Given the description of an element on the screen output the (x, y) to click on. 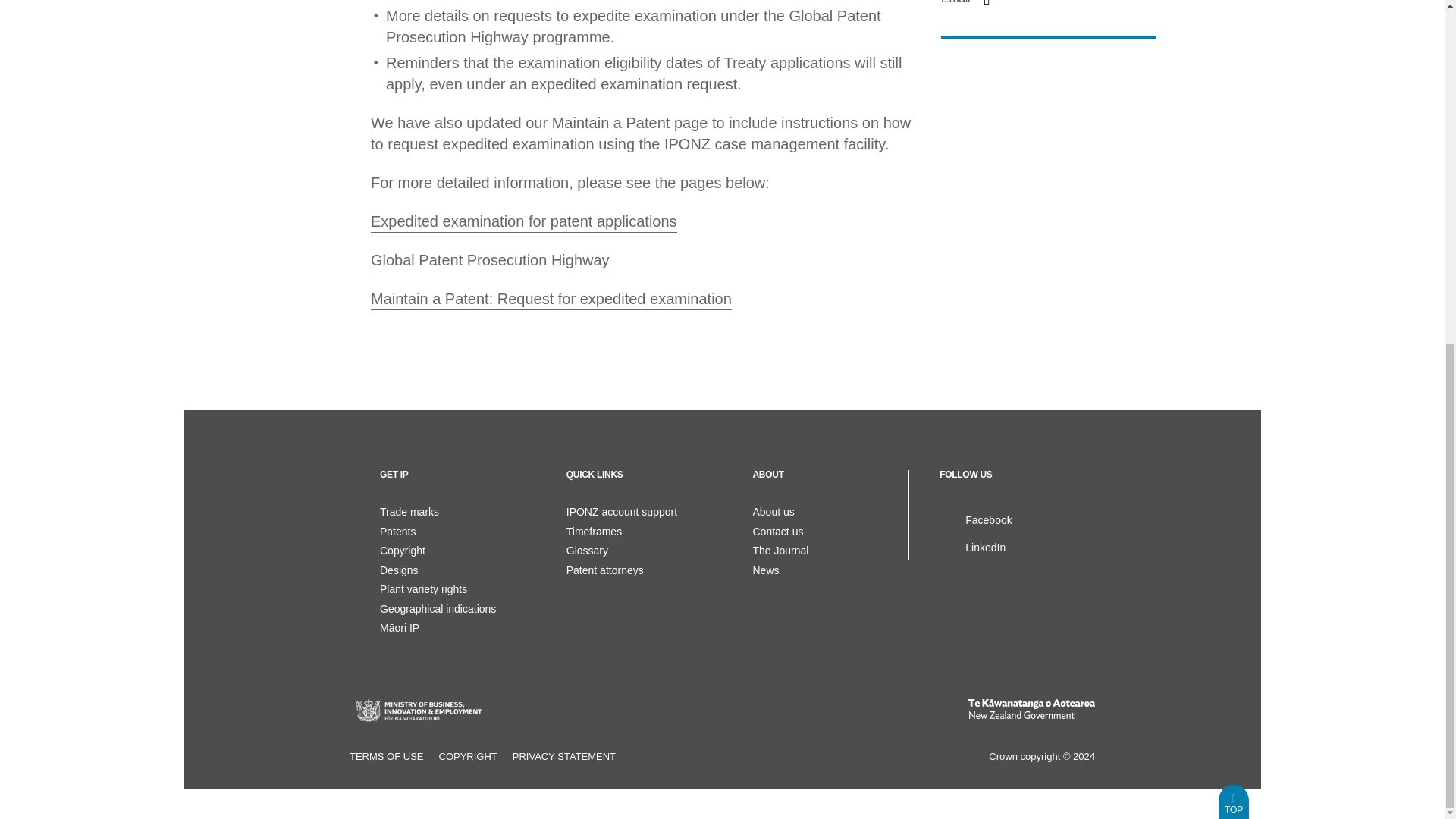
Expedited examination for patent applications (524, 222)
Global Patent Prosecution Highway (490, 261)
Maintain a Patent: Request for expedited examination (551, 300)
